Given the description of an element on the screen output the (x, y) to click on. 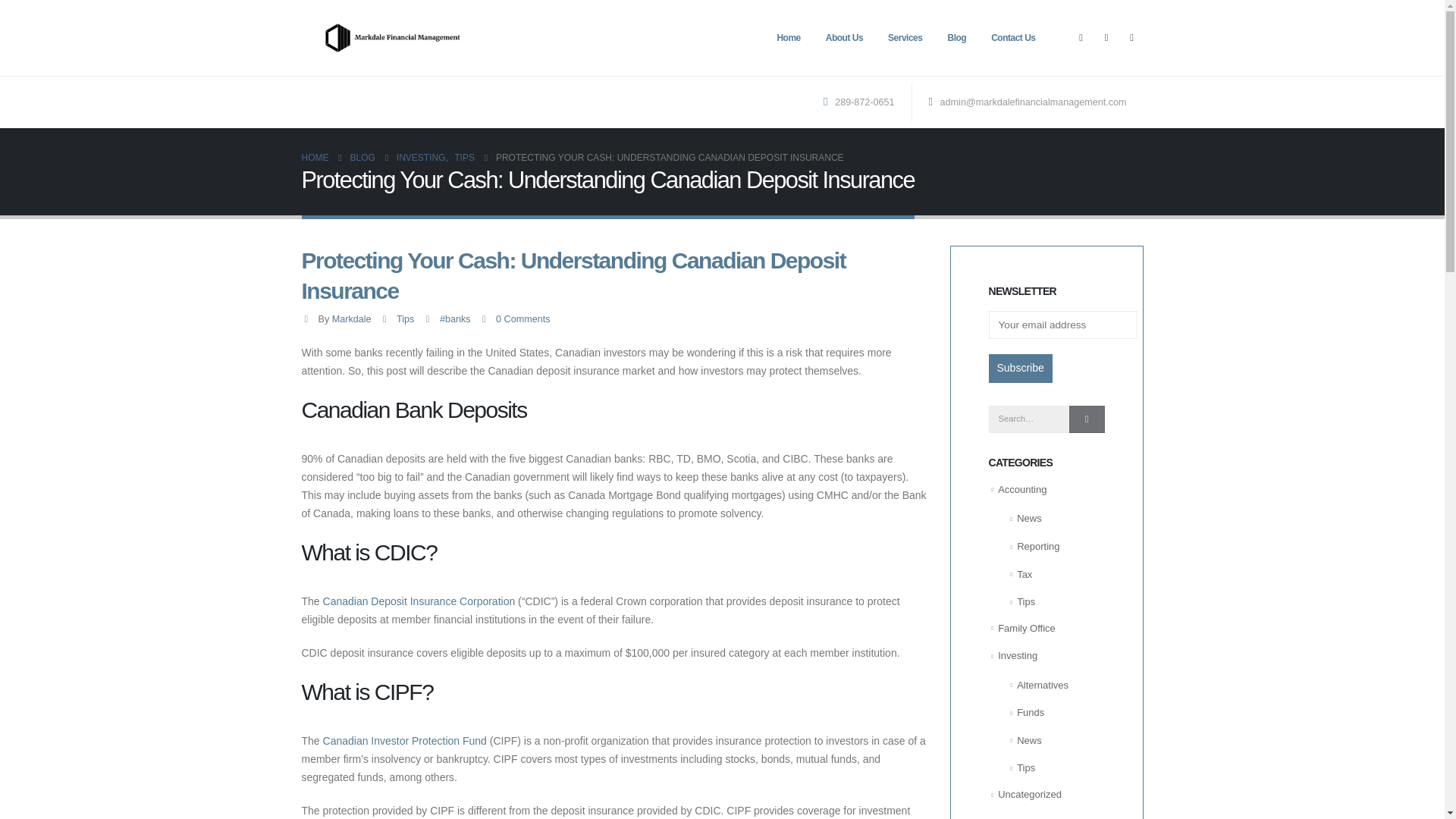
289-872-0651 (862, 102)
INVESTING (420, 157)
0 Comments (523, 318)
Go to Home Page (315, 157)
Investing (1016, 655)
Contact Us (1012, 38)
Family Office (1026, 627)
TIPS (464, 157)
Tips (404, 318)
Markdale (351, 318)
